Given the description of an element on the screen output the (x, y) to click on. 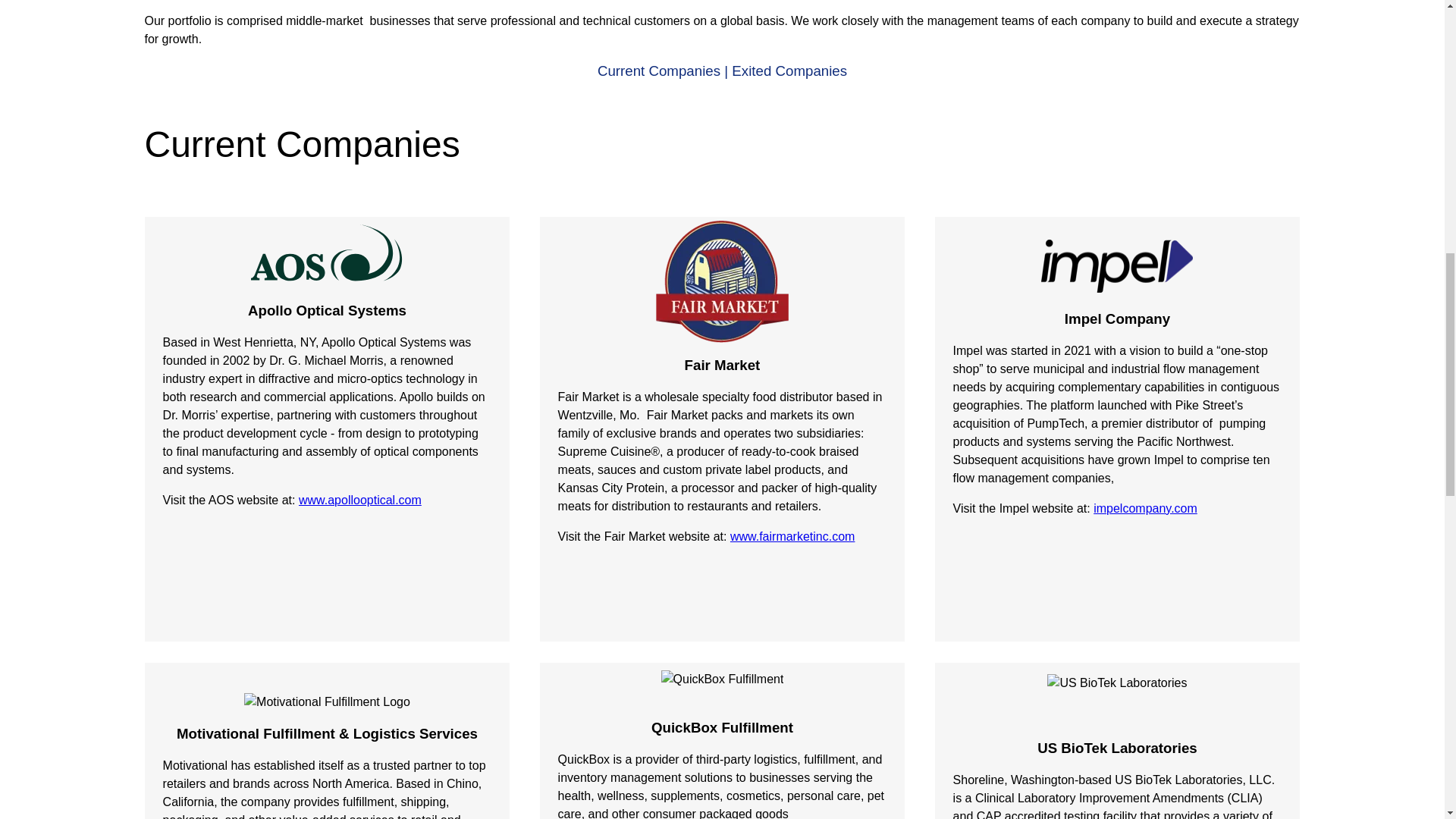
Fair Market (722, 281)
www.fairmarketinc.com (792, 535)
IMPEL LOGO (1116, 265)
Current Companies (658, 70)
impelcompany.com (1144, 508)
Exited Companies (789, 70)
www.apollooptical.com (360, 499)
US BioTek Laboratories (1116, 683)
QuickBox Fulfillment (722, 679)
Apollo Optical Systems (326, 252)
Motivational Fulfillment Logo (327, 701)
